Given the description of an element on the screen output the (x, y) to click on. 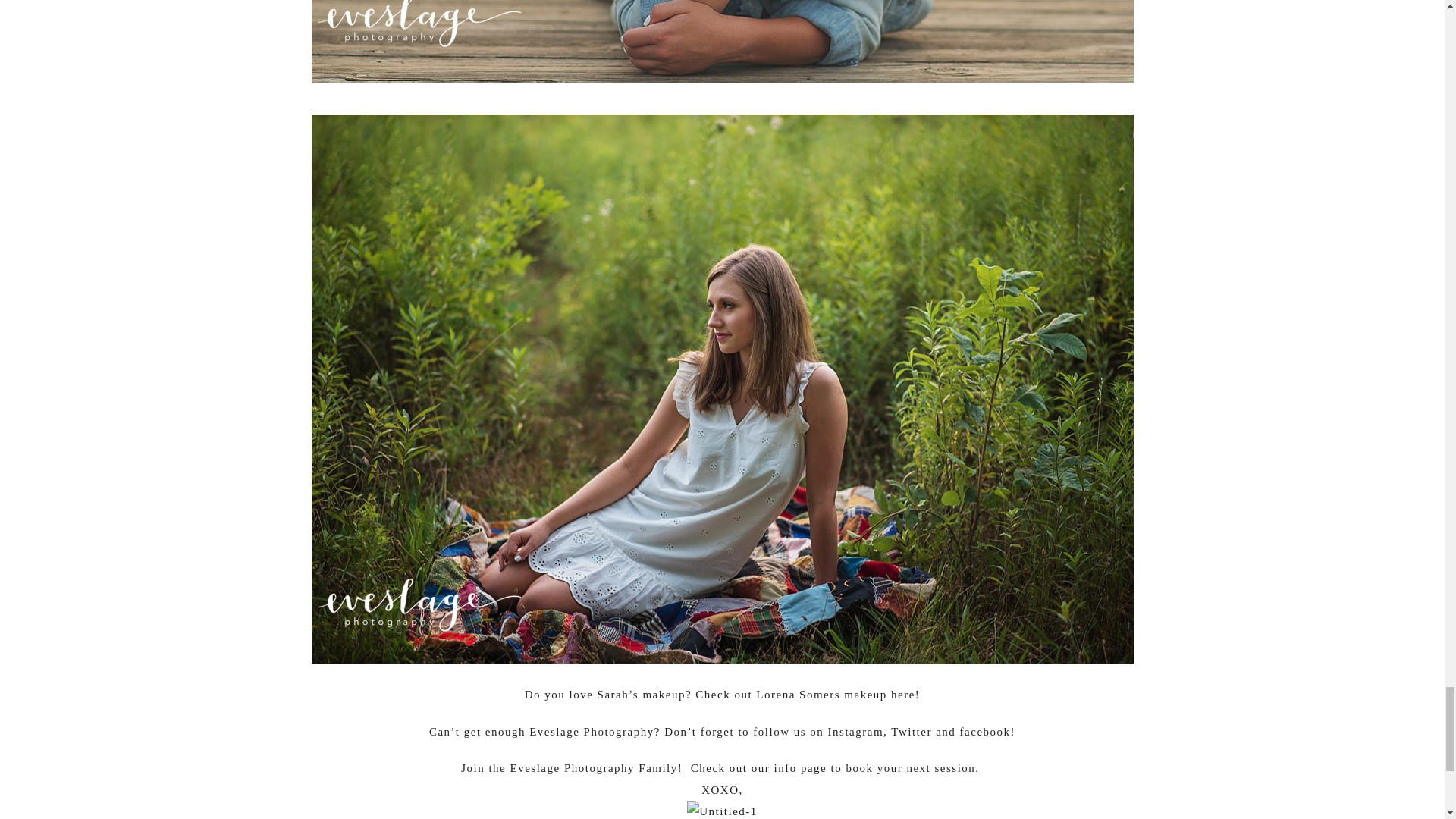
here (903, 694)
Instagram (855, 731)
facebook (984, 731)
Twitter (911, 731)
info page (800, 767)
